Given the description of an element on the screen output the (x, y) to click on. 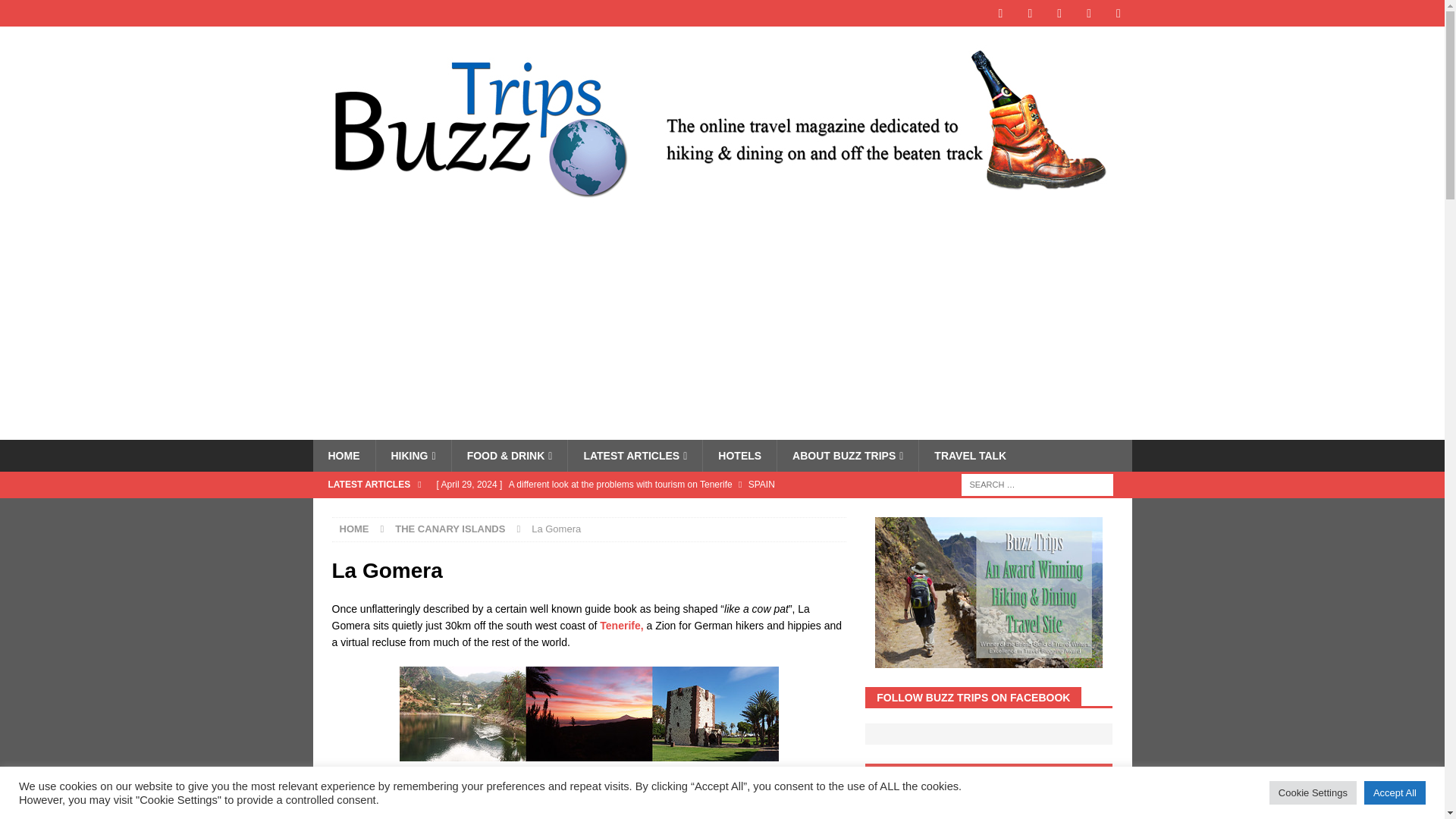
How to identify authentic balsamic vinegar from Modena (636, 522)
buzztrips.co.uk (722, 207)
A different look at the problems with tourism on Tenerife (636, 484)
